Given the description of an element on the screen output the (x, y) to click on. 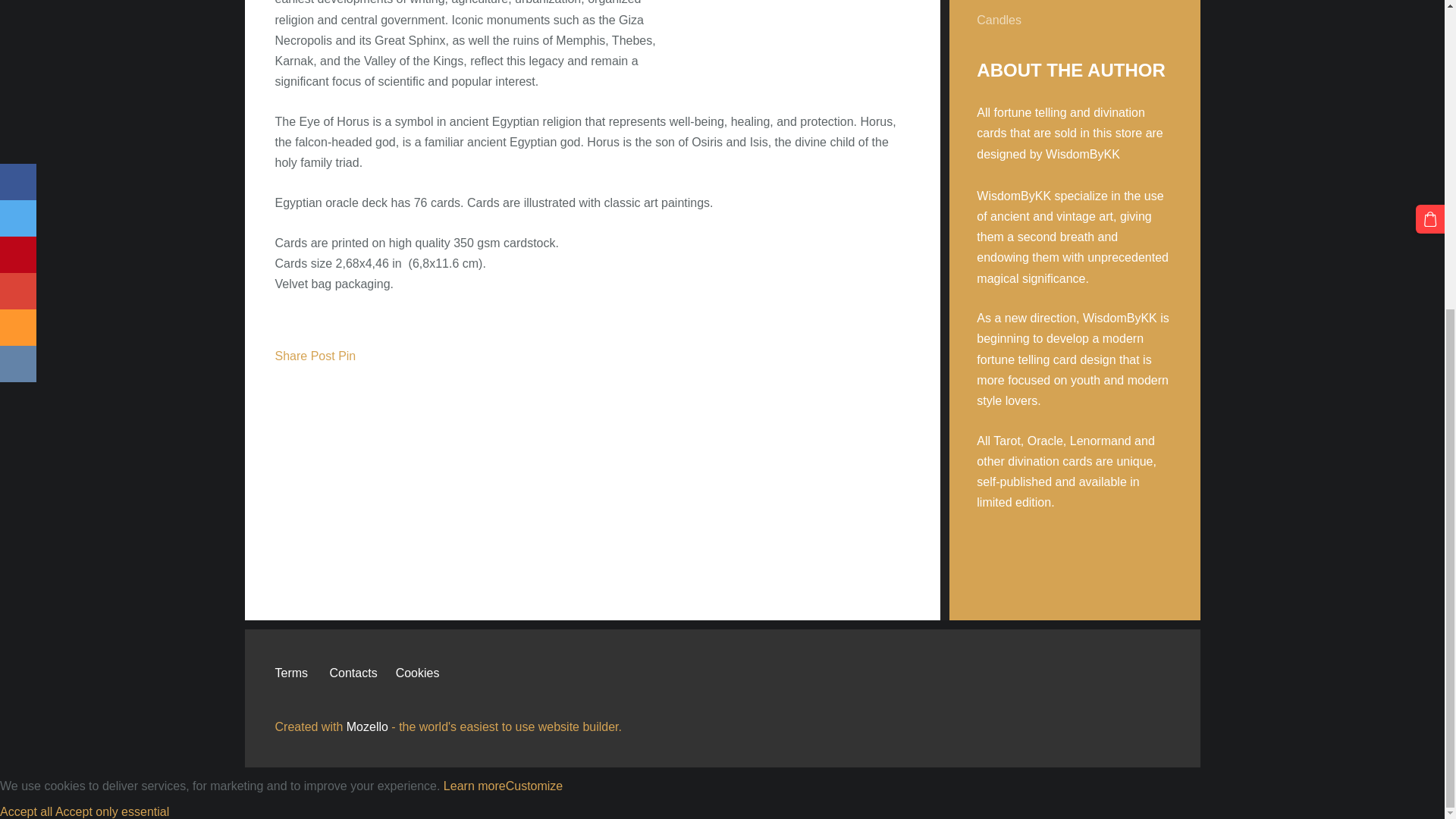
Instagram (1153, 717)
Playing Cards (1014, 1)
Egyptian Oracle cards (857, 20)
Post (322, 355)
Candles (999, 19)
Egyptian Oracle cards (735, 20)
Share (291, 355)
Pin (346, 355)
Pinterest (1120, 717)
